Given the description of an element on the screen output the (x, y) to click on. 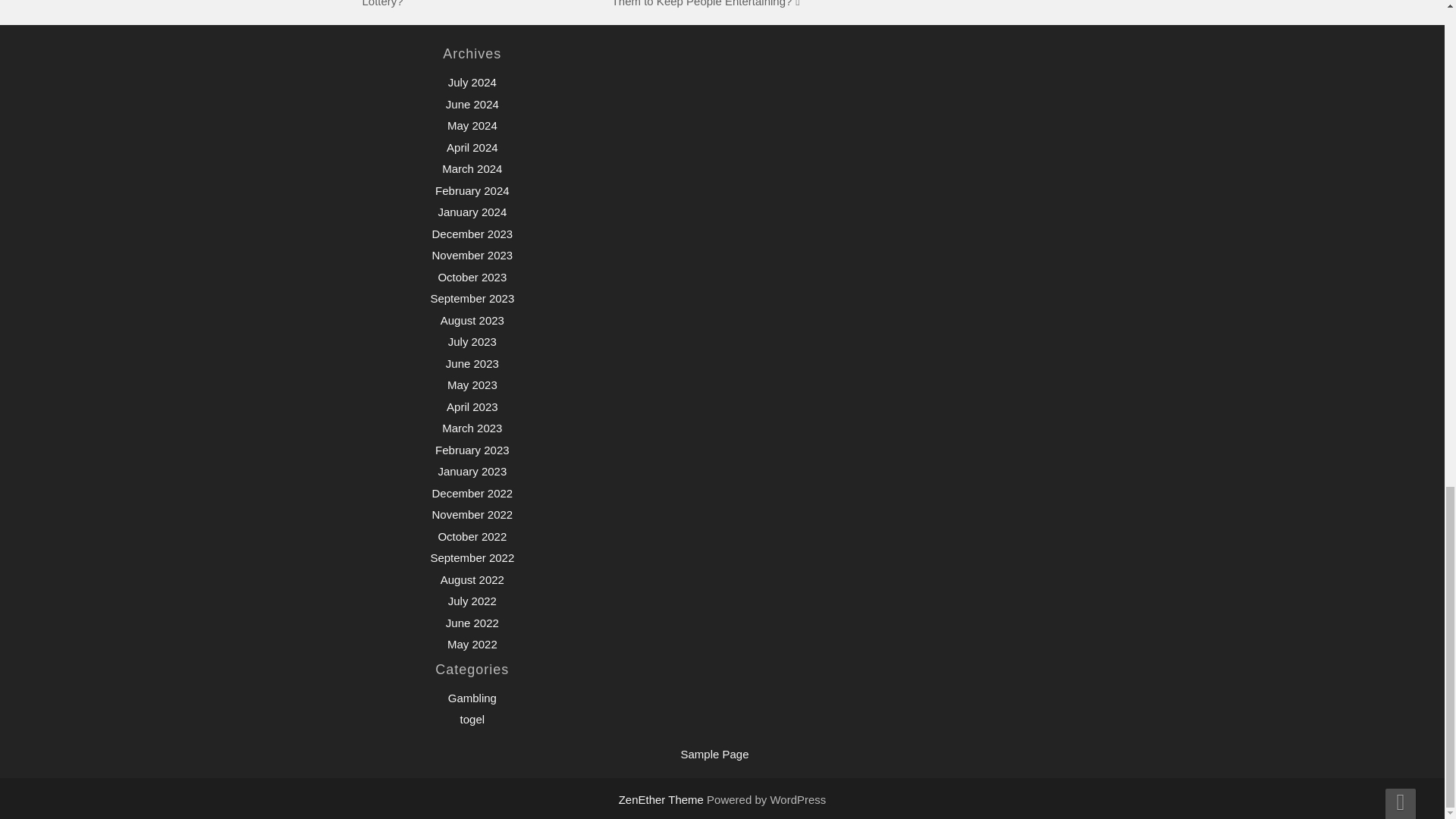
March 2023 (472, 427)
February 2024 (472, 190)
December 2022 (471, 492)
November 2023 (471, 254)
September 2023 (471, 297)
October 2022 (472, 535)
May 2023 (471, 384)
July 2023 (472, 341)
October 2023 (472, 277)
February 2023 (472, 449)
August 2023 (472, 319)
Previous Post: What is an Online Lottery? (449, 3)
December 2023 (471, 233)
July 2024 (472, 82)
April 2024 (471, 146)
